Given the description of an element on the screen output the (x, y) to click on. 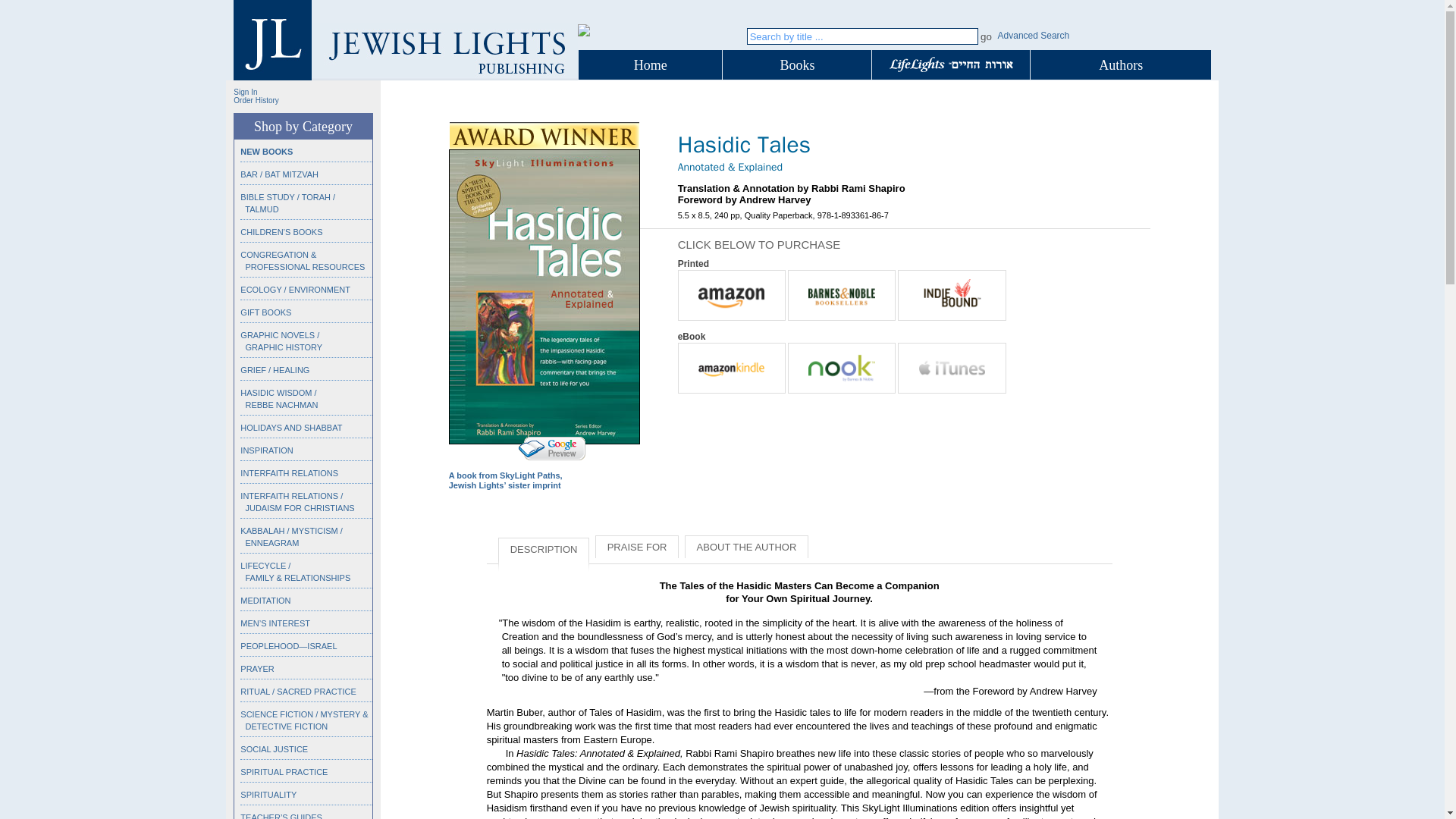
Books (795, 64)
PRAYER (256, 668)
SPIRITUAL PRACTICE (283, 771)
Order History (255, 100)
Search by title ... (862, 36)
SPIRITUALITY (268, 794)
MEDITATION (264, 600)
SOCIAL JUSTICE (273, 748)
Search by title ... (862, 36)
Home (649, 64)
Authors (1120, 64)
GIFT BOOKS (265, 311)
INTERFAITH RELATIONS (288, 472)
INSPIRATION (266, 450)
Advanced Search (1033, 35)
